Given the description of an element on the screen output the (x, y) to click on. 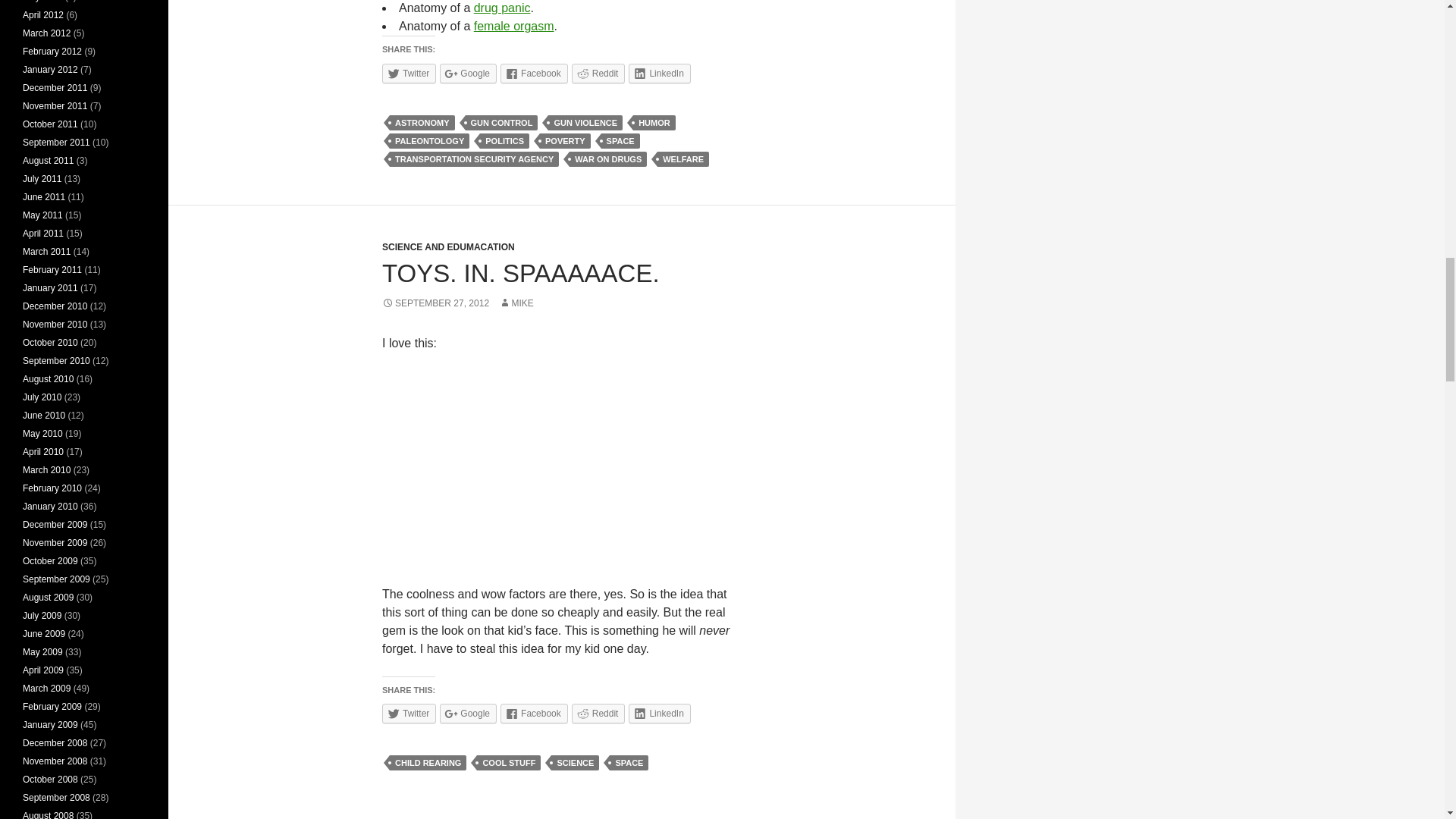
Click to share on LinkedIn (659, 73)
Click to share on Facebook (533, 713)
Click to share on Twitter (408, 73)
Click to share on Reddit (599, 713)
Click to share on Twitter (408, 713)
Click to share on Facebook (533, 73)
Click to share on Reddit (599, 73)
Click to share on LinkedIn (659, 713)
